Given the description of an element on the screen output the (x, y) to click on. 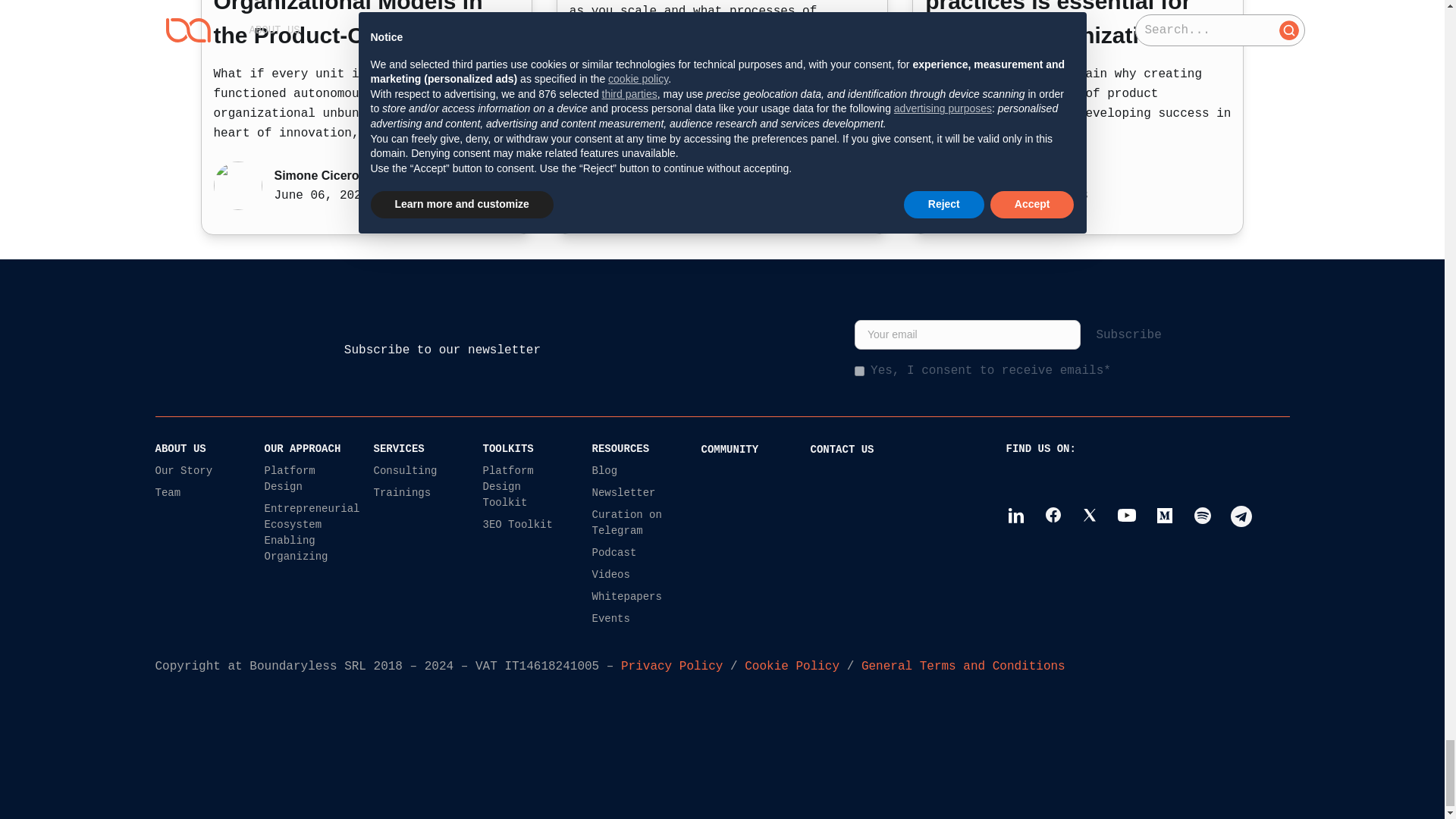
on (859, 370)
